Given the description of an element on the screen output the (x, y) to click on. 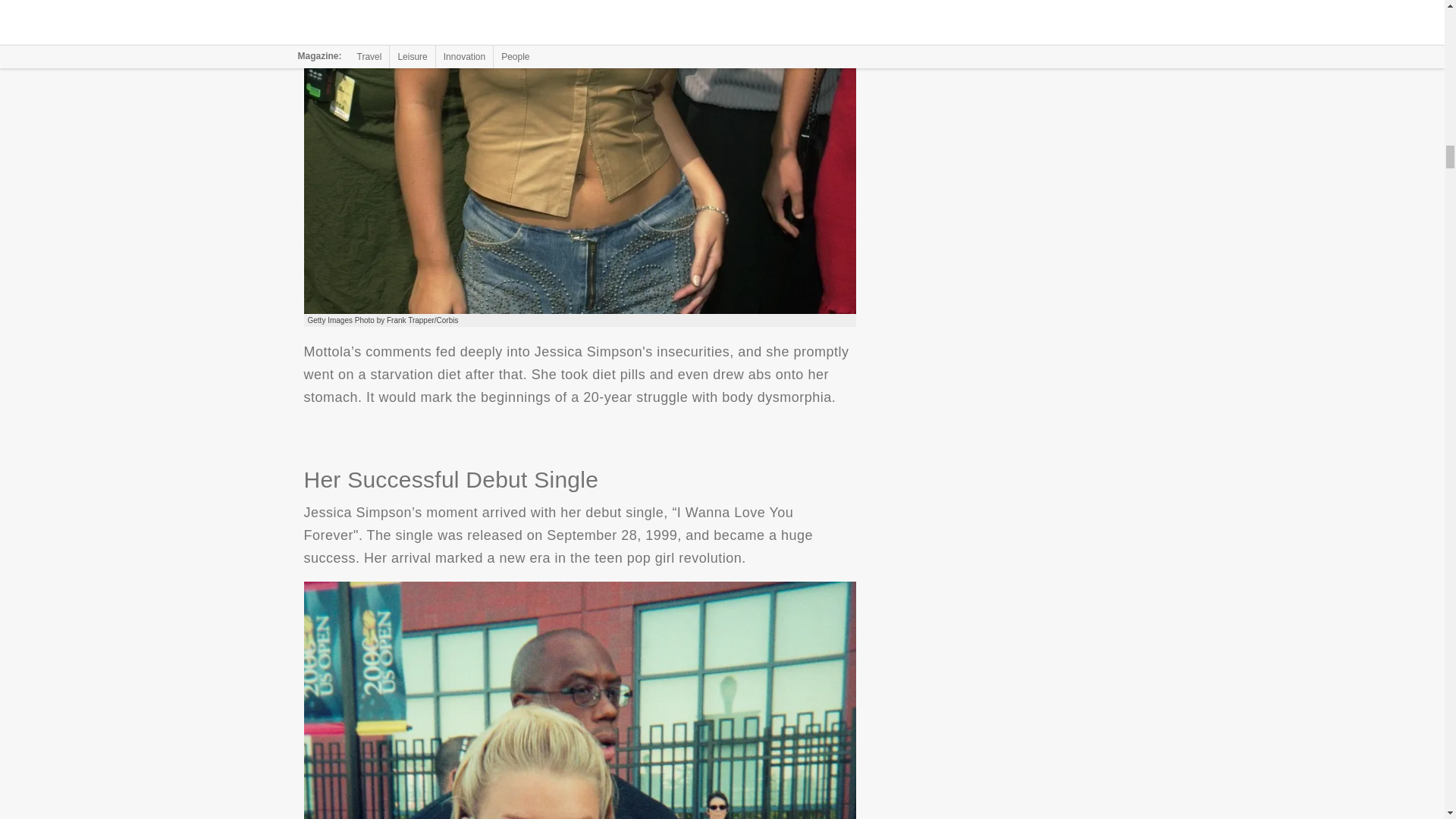
Her Successful Debut Single (579, 699)
